Given the description of an element on the screen output the (x, y) to click on. 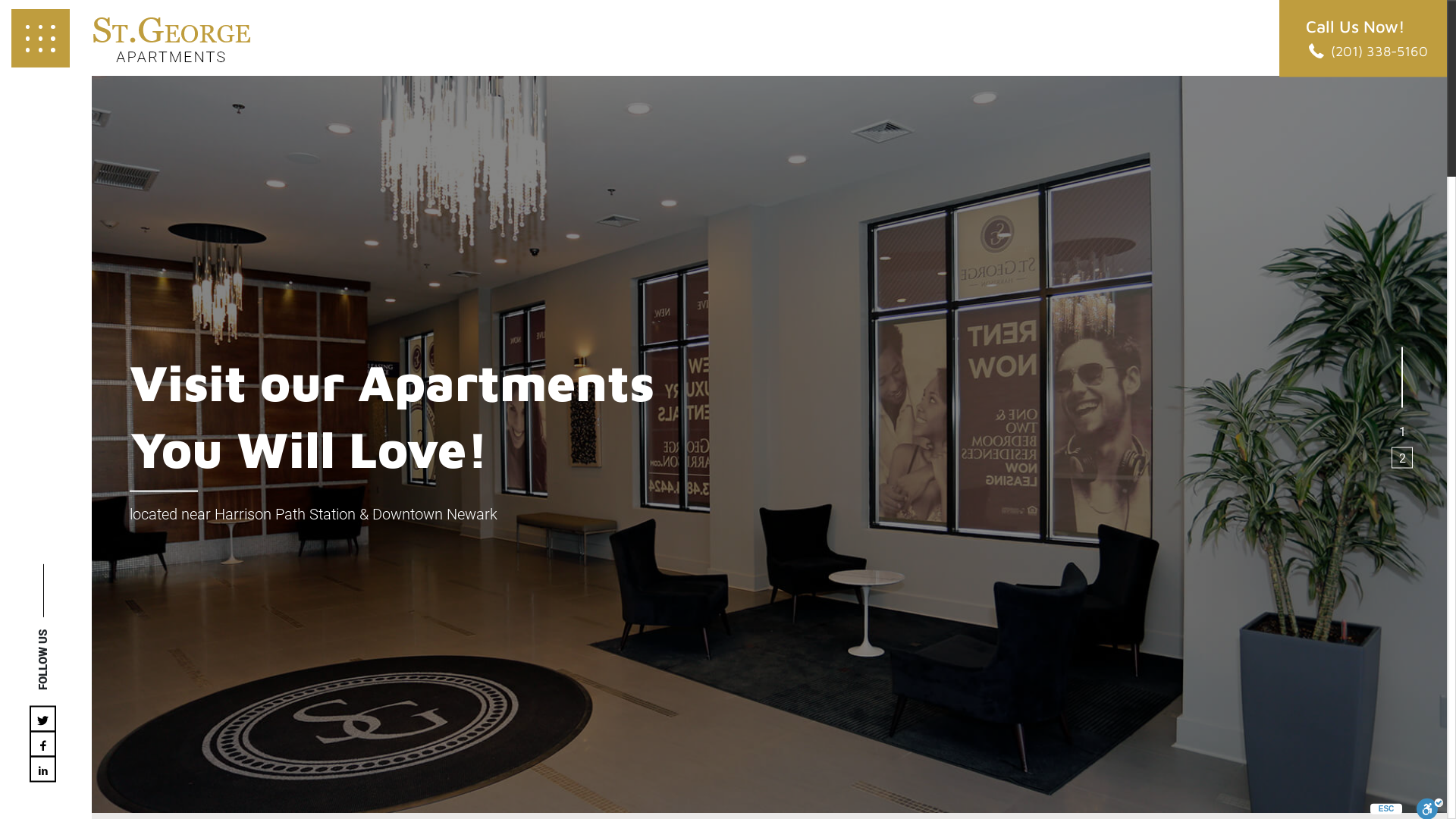
(201) 338-5160 Element type: text (1366, 50)
2 Element type: text (1401, 457)
1 Element type: text (1401, 430)
